Given the description of an element on the screen output the (x, y) to click on. 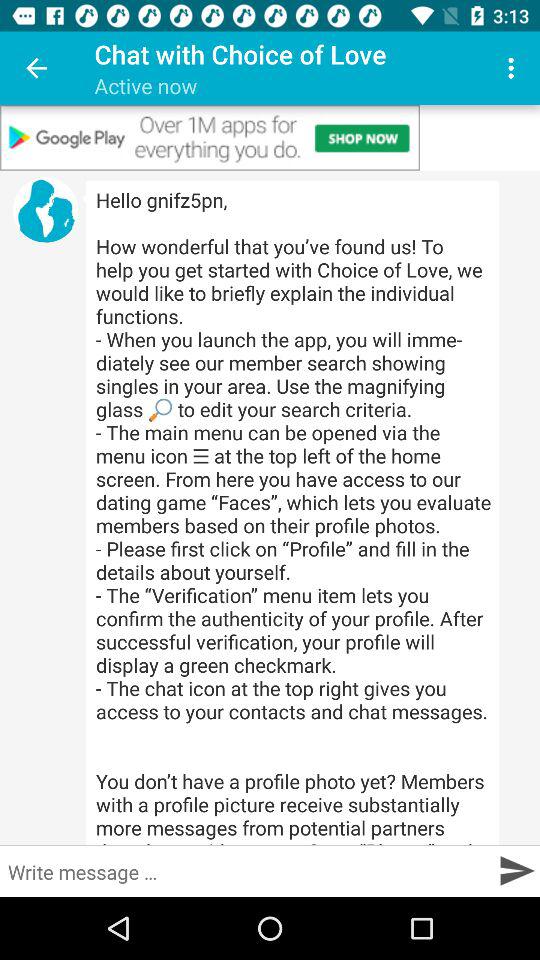
send message (516, 870)
